Given the description of an element on the screen output the (x, y) to click on. 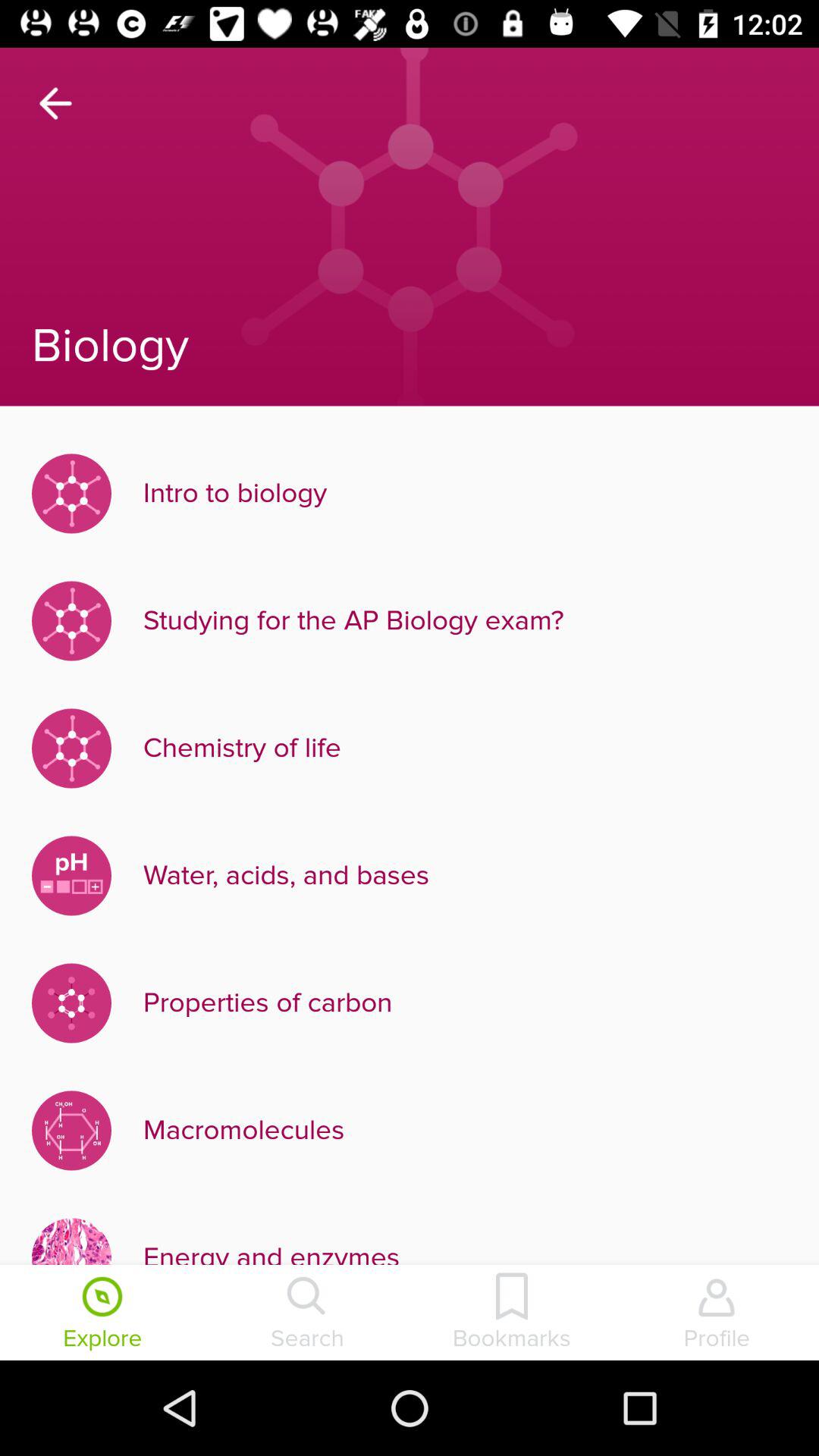
press the item to the left of bookmarks icon (306, 1314)
